Given the description of an element on the screen output the (x, y) to click on. 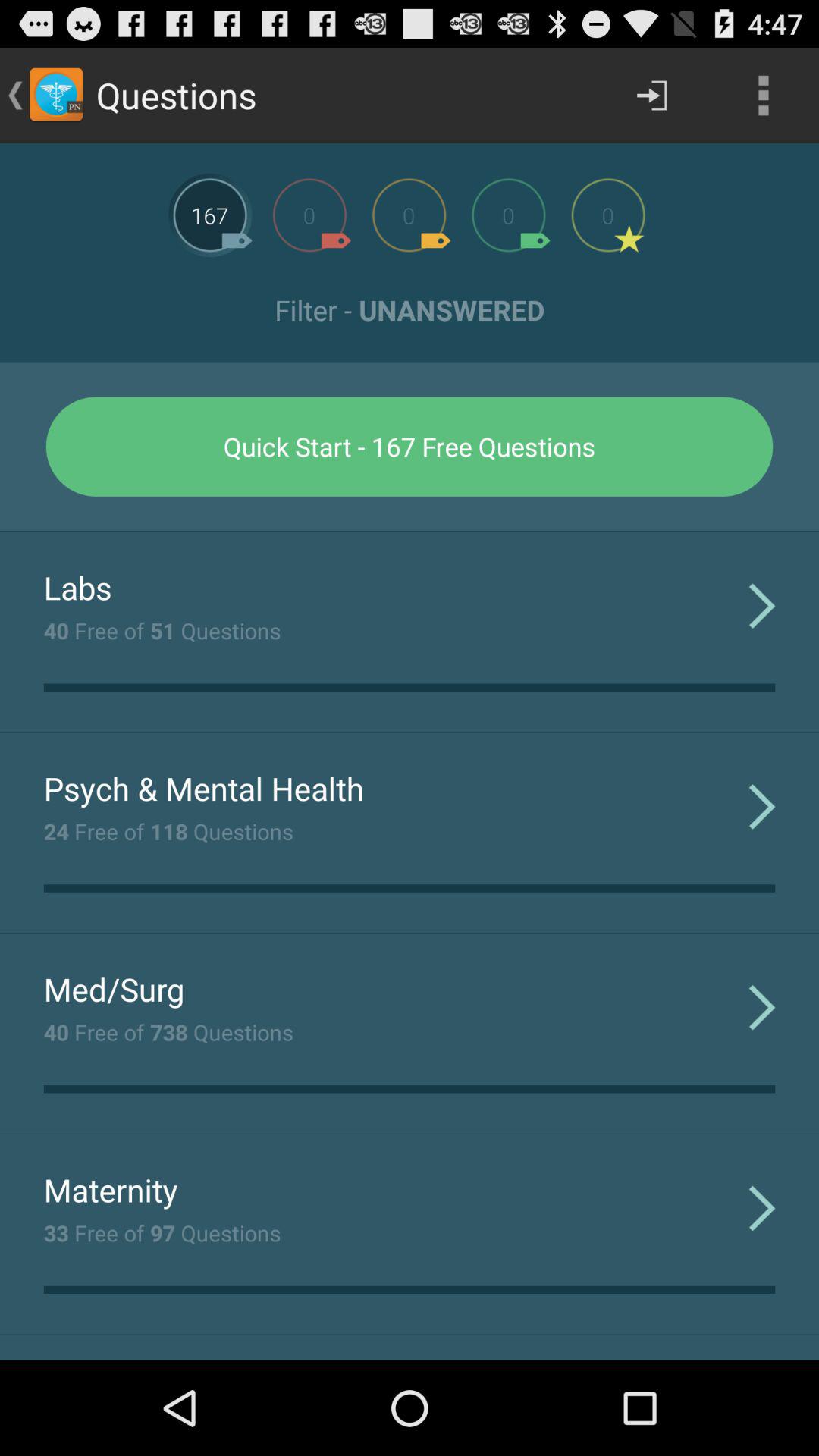
open icon to the right of 40 free of icon (762, 605)
